Given the description of an element on the screen output the (x, y) to click on. 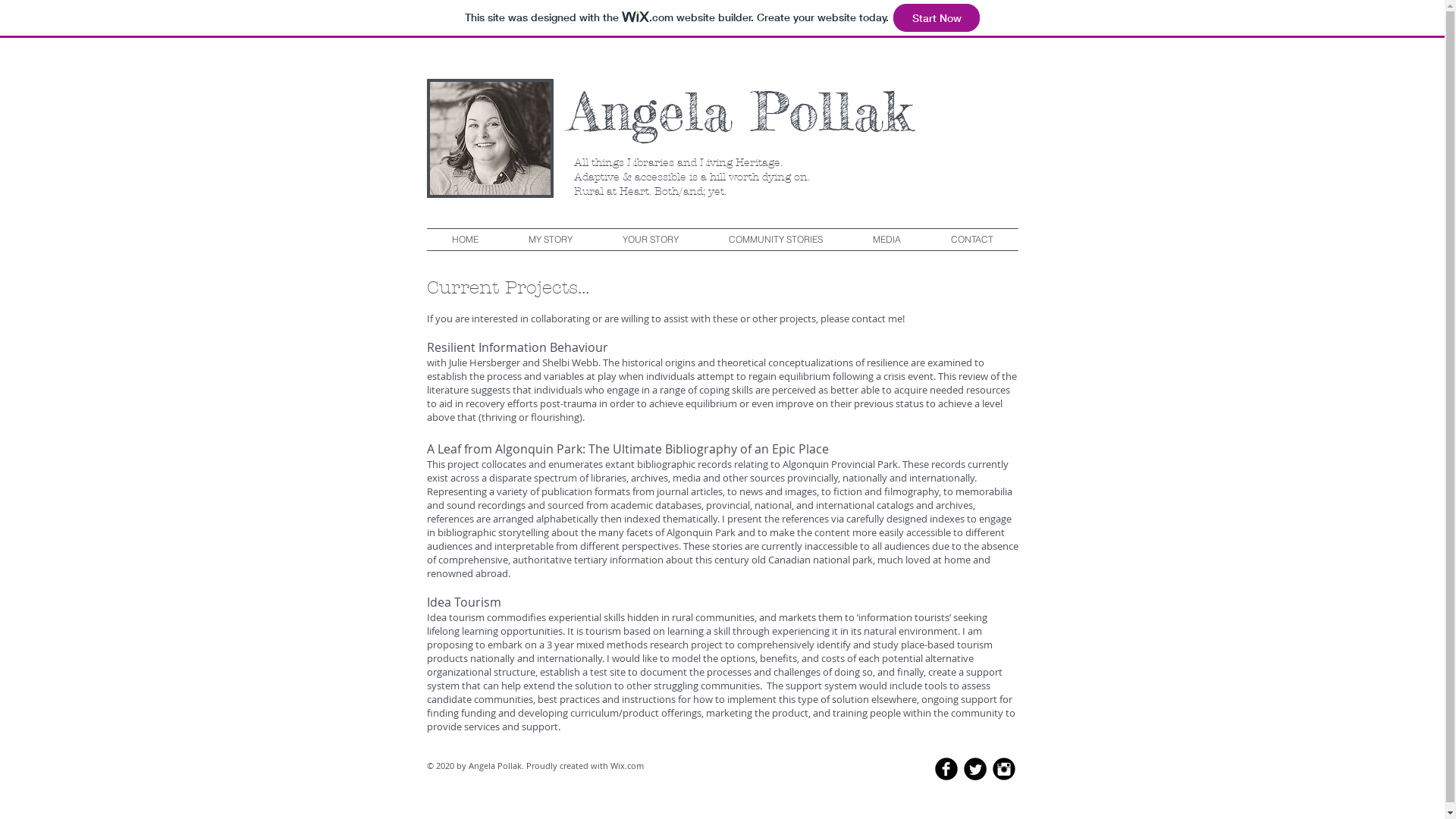
COMMUNITY STORIES Element type: text (775, 239)
CONTACT Element type: text (971, 239)
BioPic_cropped_fixed hair_with frame.jpg Element type: hover (489, 137)
Wix.com Element type: text (626, 765)
MY STORY Element type: text (550, 239)
YOUR STORY Element type: text (650, 239)
HOME Element type: text (464, 239)
MEDIA Element type: text (886, 239)
